Given the description of an element on the screen output the (x, y) to click on. 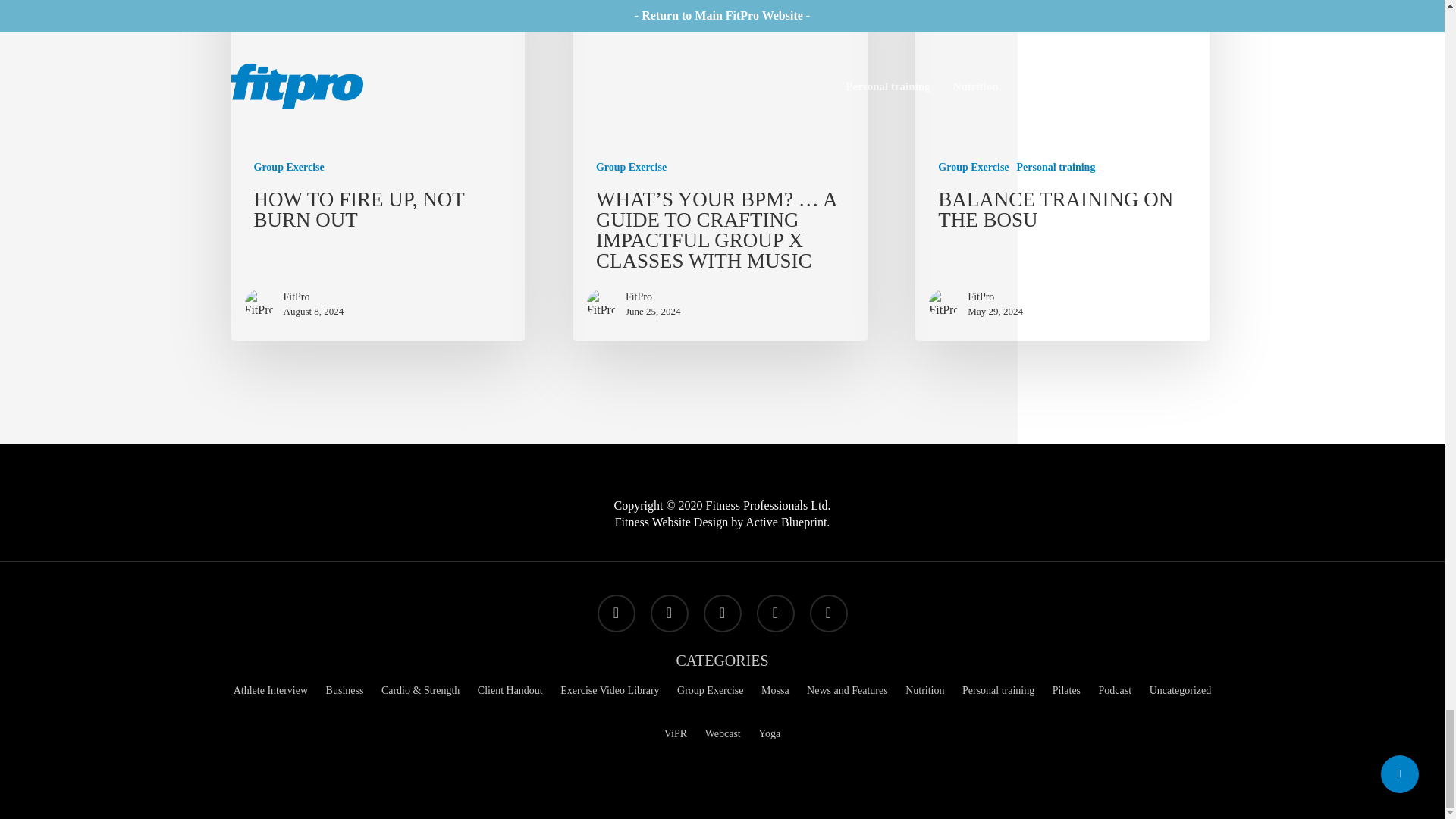
Group Exercise (630, 166)
Group Exercise (288, 166)
FitPro (313, 296)
